Given the description of an element on the screen output the (x, y) to click on. 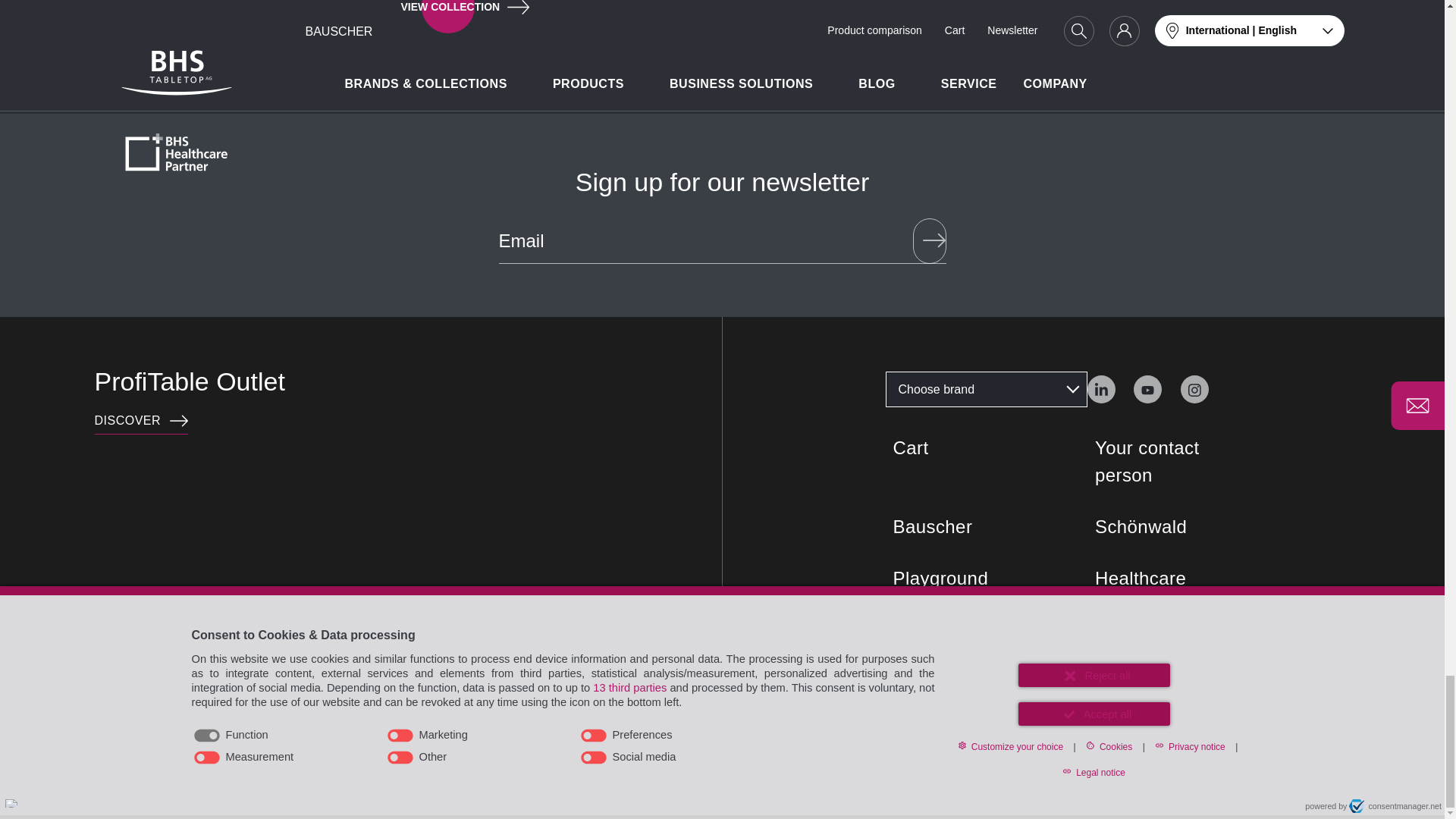
Instagram (1100, 388)
Instagram (1194, 389)
LinkedIn (1101, 389)
ProfiTable Outlet (140, 421)
YouTube (1147, 389)
